Given the description of an element on the screen output the (x, y) to click on. 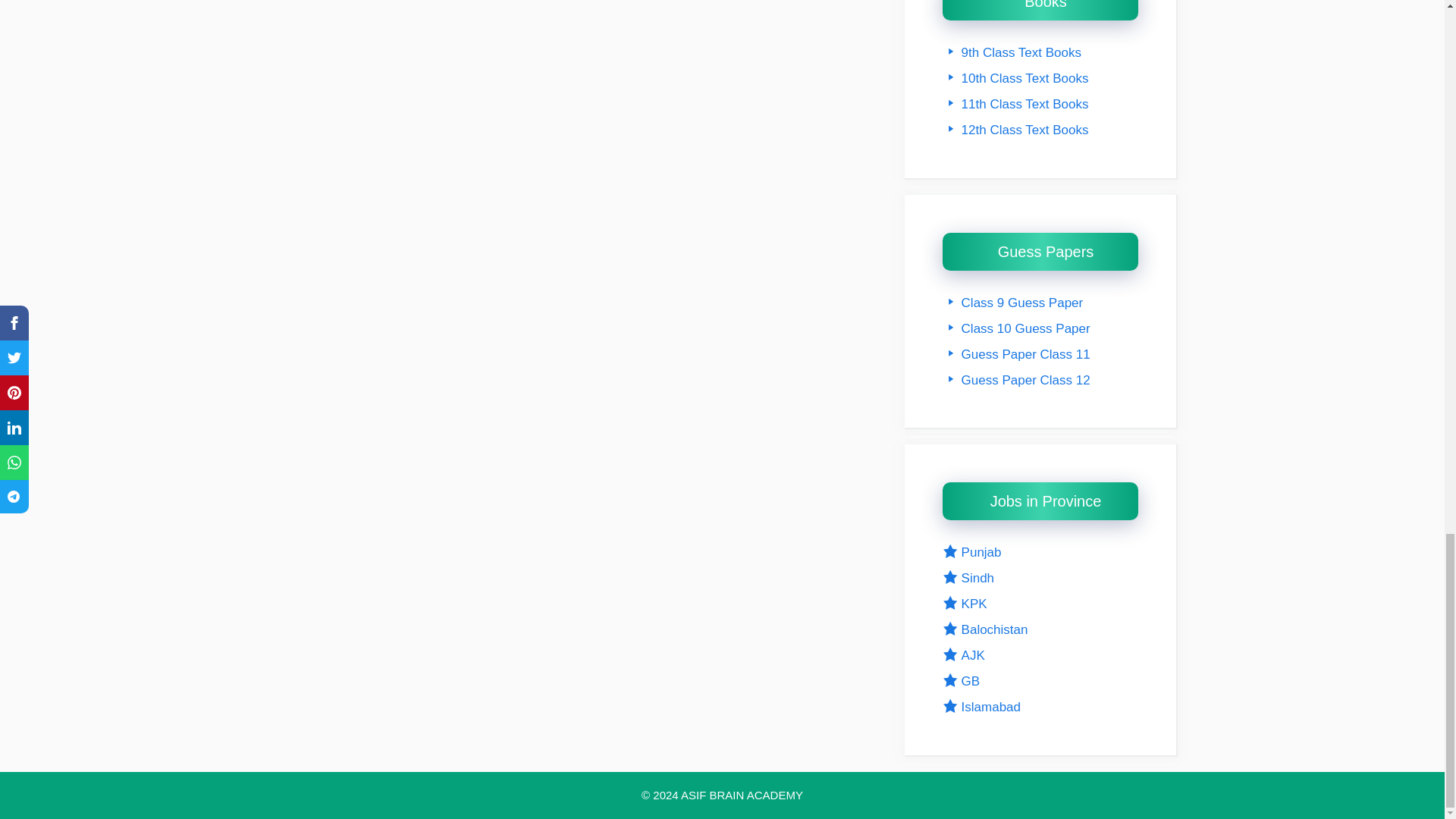
Class 9 Guess Paper (1012, 302)
11th Class Text Books (1014, 104)
12th Class Text Books (1014, 129)
10th Class Text Books (1014, 78)
9th Class Text Books (1011, 52)
